Given the description of an element on the screen output the (x, y) to click on. 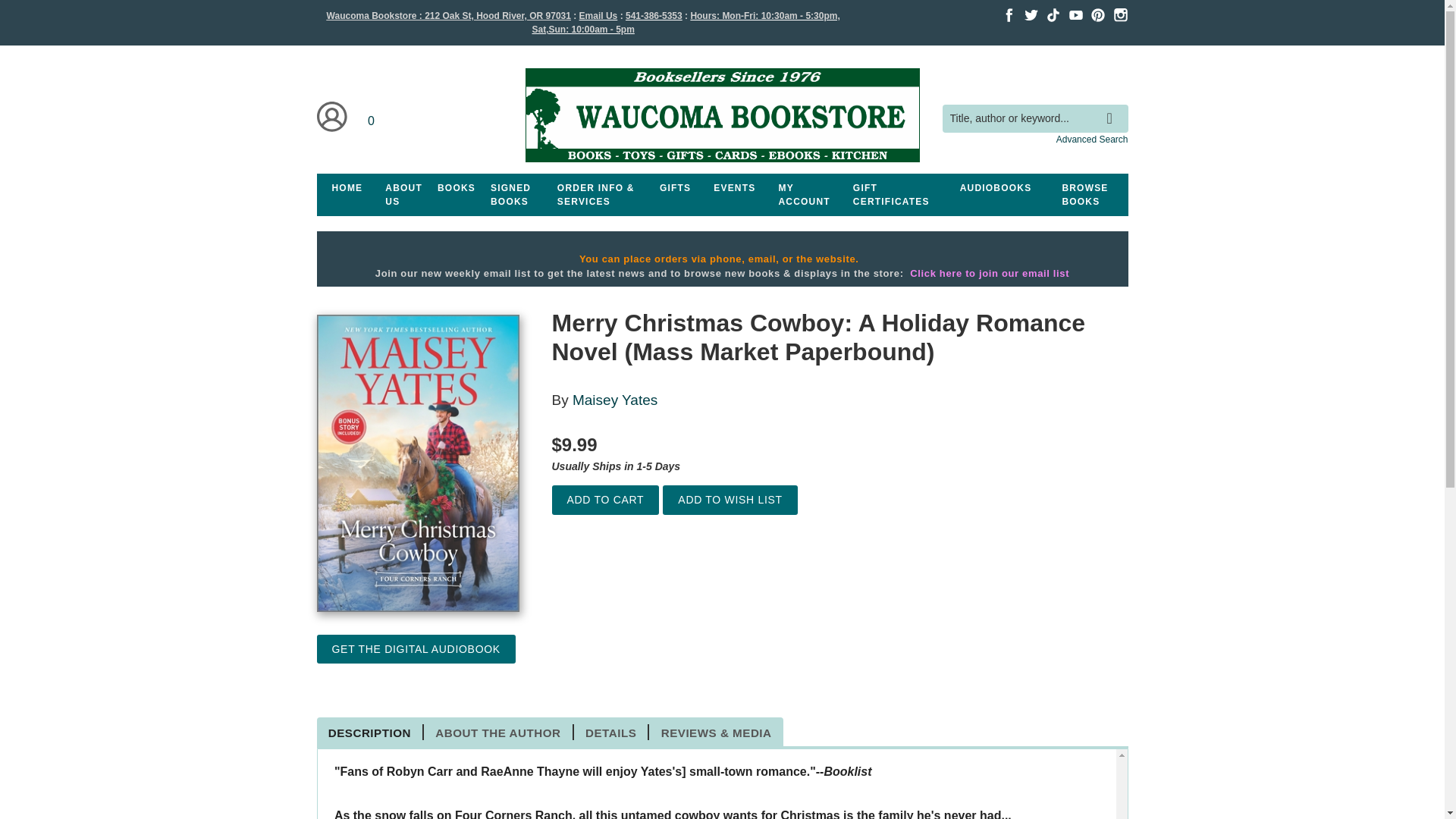
Advanced Search (1092, 139)
Hours: Mon-Fri: 10:30am - 5:30pm, Sat,Sun: 10:00am - 5pm (685, 22)
Title, author or keyword... (1034, 118)
Cart (371, 116)
ABOUT US (403, 194)
search (1112, 106)
search (1112, 106)
Waucoma Bookstore : 212 Oak St, Hood River, OR 97031 (448, 15)
Email Us (598, 15)
Add to Cart (605, 500)
Add to Wish List (729, 500)
Home (721, 117)
My Account (332, 116)
541-386-5353 (654, 15)
